Given the description of an element on the screen output the (x, y) to click on. 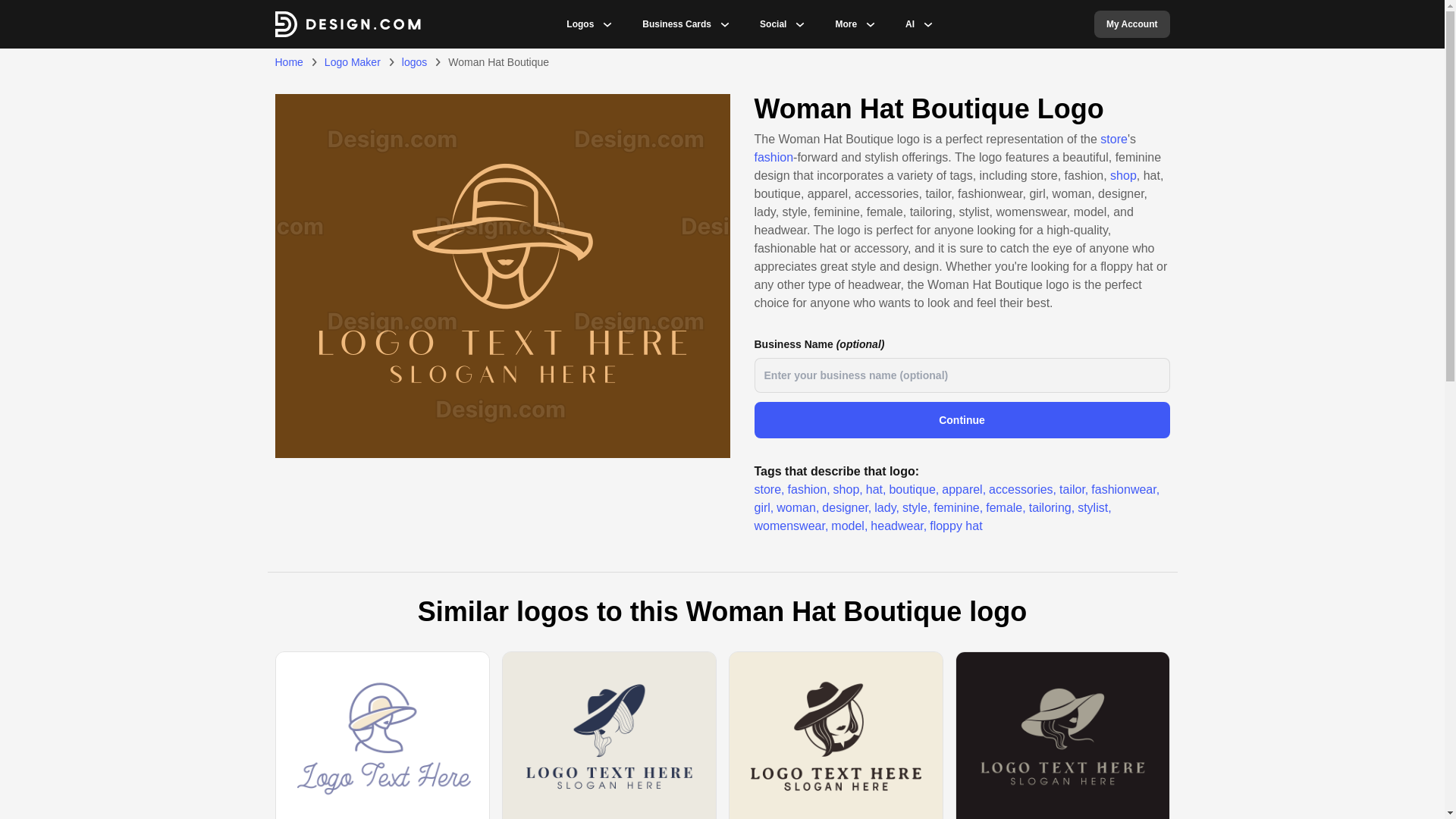
Site Logo (347, 24)
Logos (580, 24)
